Given the description of an element on the screen output the (x, y) to click on. 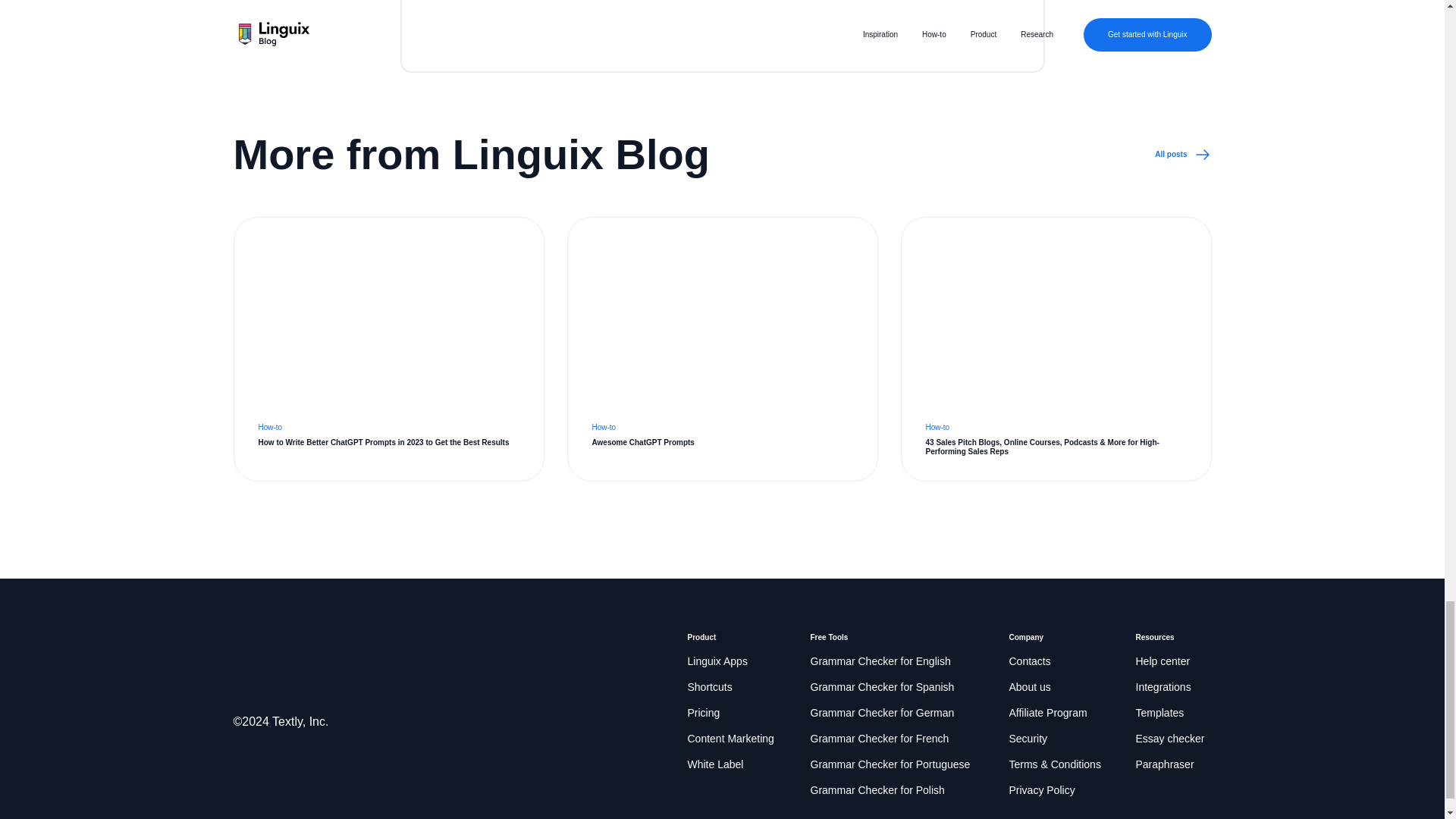
Essay checker (1170, 739)
Free Tools (722, 349)
Grammar Checker for French (828, 637)
Grammar Checker for Spanish (879, 739)
Grammar Checker for Polish (881, 687)
Grammar Checker for Portuguese (876, 790)
Grammar Checker for English (889, 764)
Content Marketing (879, 661)
Grammar Checker for German (730, 739)
All posts (881, 713)
Product (1182, 154)
Shortcuts (701, 637)
Linguix Apps (709, 687)
